Given the description of an element on the screen output the (x, y) to click on. 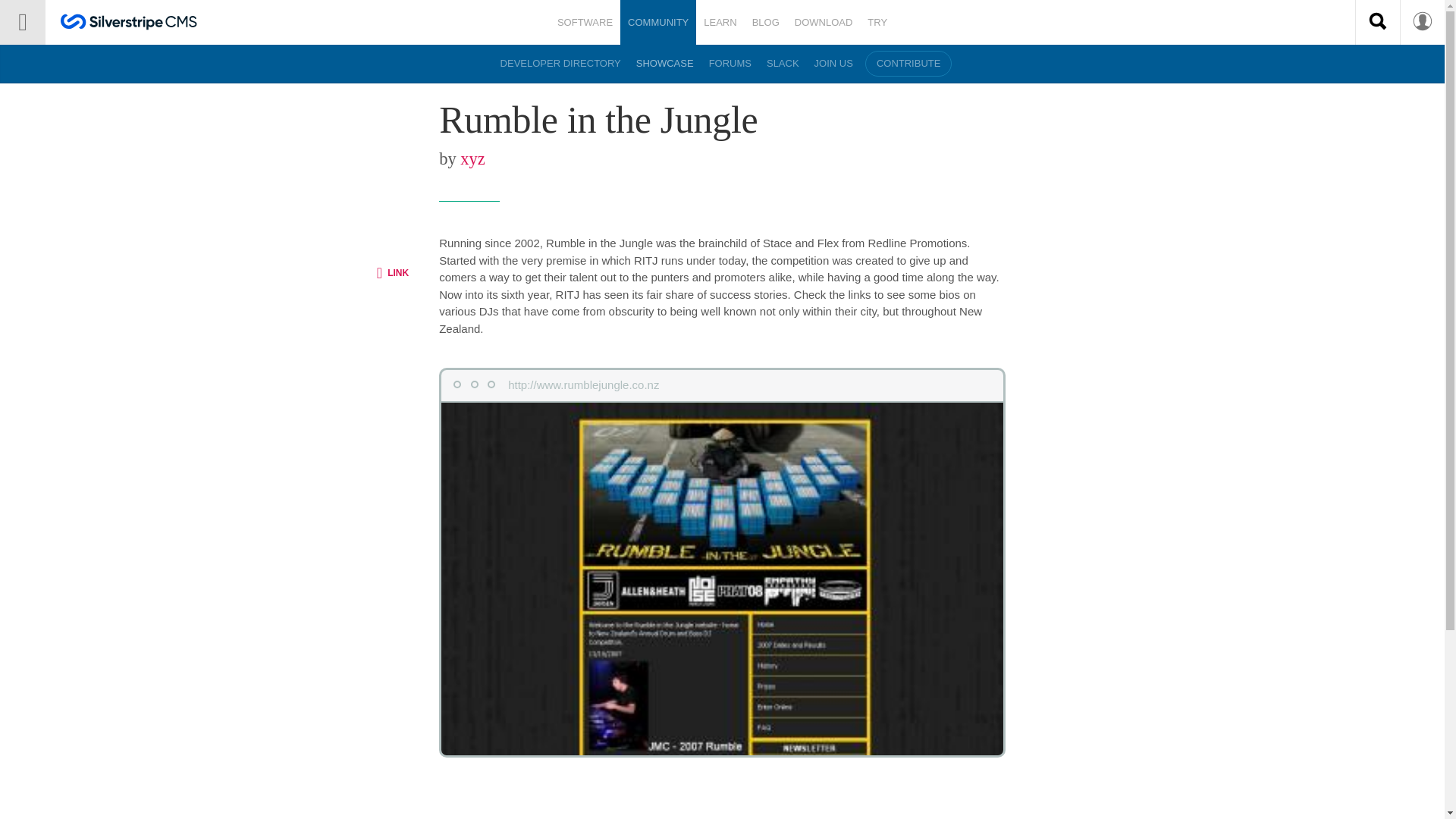
CONTRIBUTE (908, 63)
Search Site search (1378, 20)
 Go to the Join the community page (782, 63)
Go to the Software page (585, 22)
SHOWCASE (664, 63)
 Go to the Contributing to SilverStripe page (908, 63)
 Go to the Showcase page (664, 63)
Go to the Community page (657, 22)
LEARN (719, 22)
 Go to the Developer directory page (560, 63)
COMMUNITY (657, 22)
 Go to the Forums page (729, 63)
JOIN US (833, 63)
DEVELOPER DIRECTORY (560, 63)
DOWNLOAD (823, 22)
